Given the description of an element on the screen output the (x, y) to click on. 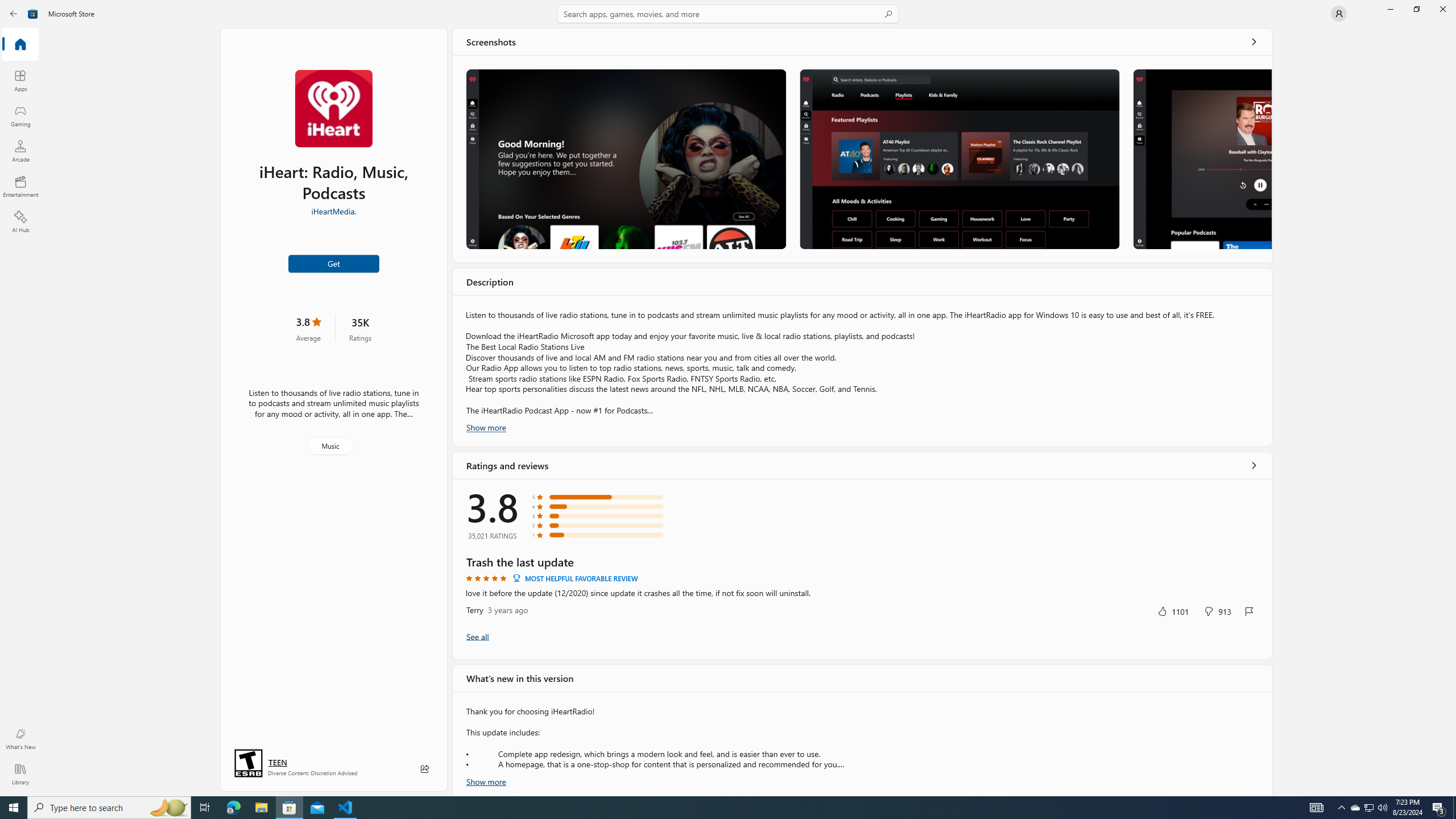
Screenshot 3 (1201, 158)
AI Hub (20, 221)
Age rating: TEEN. Click for more information. (276, 762)
iHeartMedia. (333, 210)
AutomationID: NavigationControl (728, 398)
Music (330, 445)
Arcade (20, 150)
Search (727, 13)
Restore Microsoft Store (1416, 9)
Gaming (20, 115)
Back (13, 13)
No, this was not helpful. 913 votes. (1217, 610)
Show all ratings and reviews (1253, 465)
User profile (1338, 13)
